Given the description of an element on the screen output the (x, y) to click on. 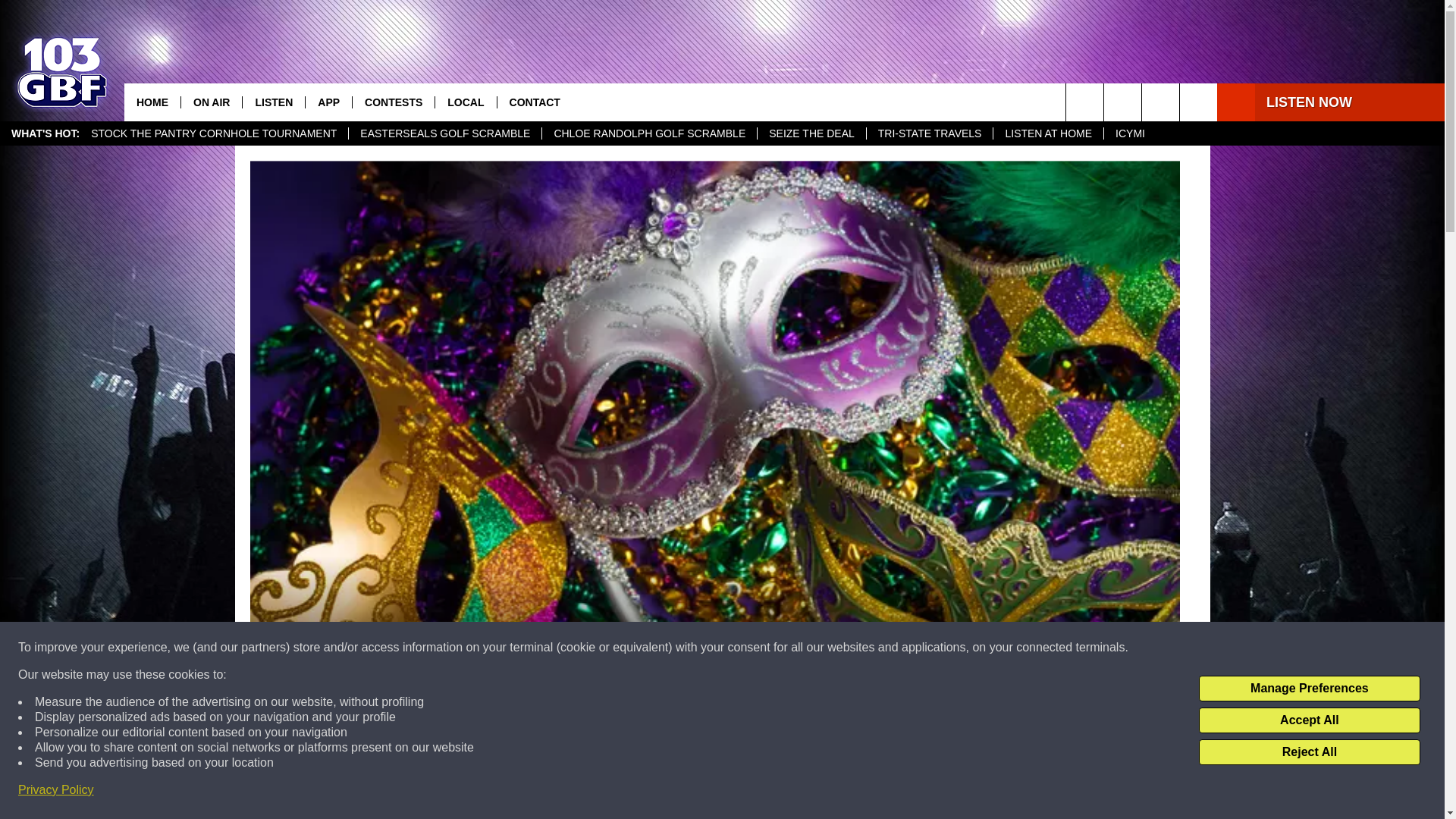
Manage Preferences (1309, 688)
STOCK THE PANTRY CORNHOLE TOURNAMENT (213, 133)
CONTESTS (392, 102)
Share on Facebook (517, 791)
Privacy Policy (55, 789)
LOCAL (464, 102)
ON AIR (210, 102)
CHLOE RANDOLPH GOLF SCRAMBLE (649, 133)
SEIZE THE DEAL (811, 133)
APP (328, 102)
LISTEN (272, 102)
EASTERSEALS GOLF SCRAMBLE (444, 133)
Reject All (1309, 751)
TRI-STATE TRAVELS (929, 133)
Share on Twitter (912, 791)
